Given the description of an element on the screen output the (x, y) to click on. 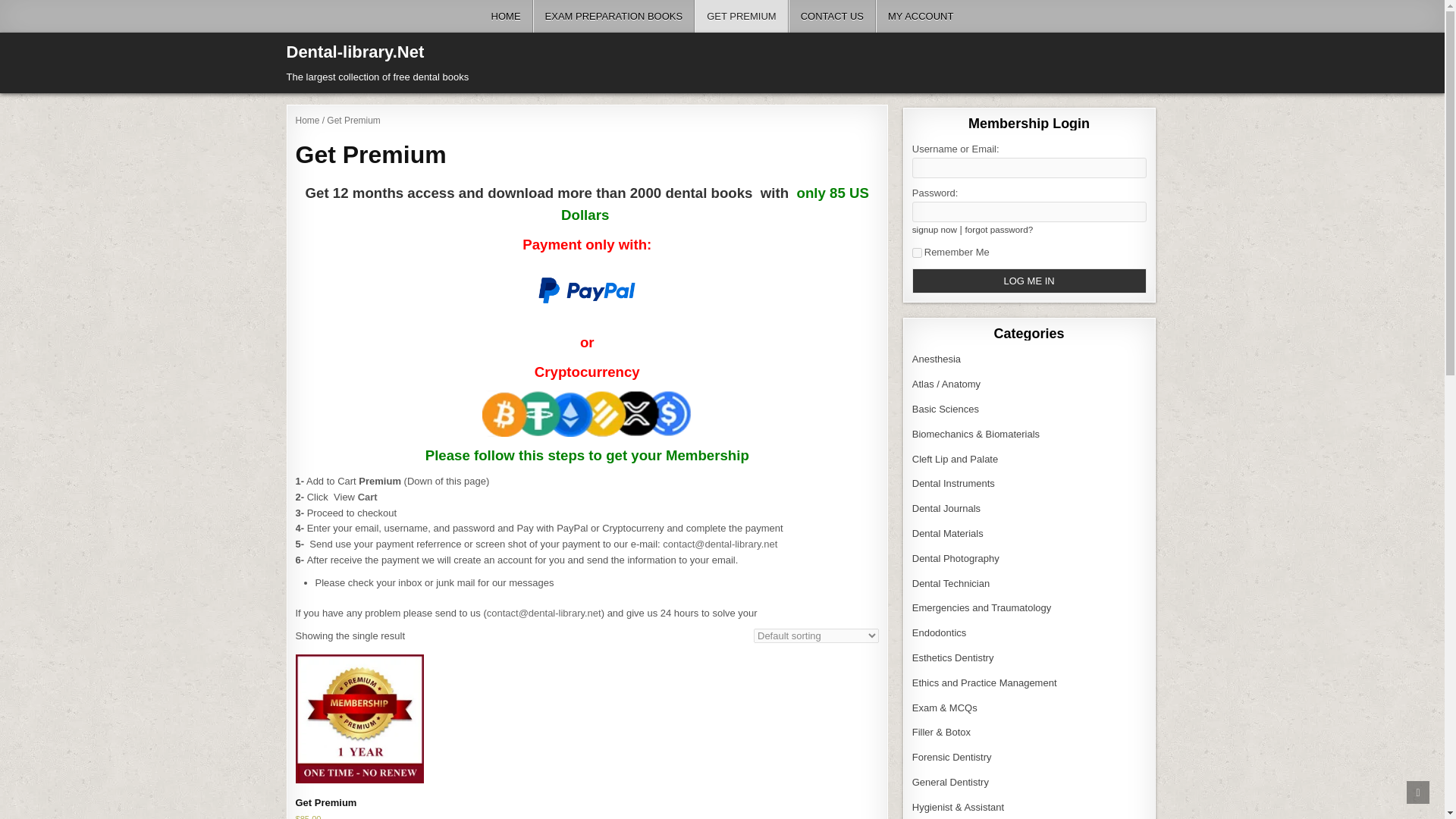
MY ACCOUNT (919, 16)
forever (916, 252)
Username (1029, 168)
Password (1029, 211)
Home (307, 120)
Log Me In (1029, 280)
Cleft Lip and Palate (954, 459)
Anesthesia (936, 358)
GET PREMIUM (741, 16)
Cart (367, 496)
